Given the description of an element on the screen output the (x, y) to click on. 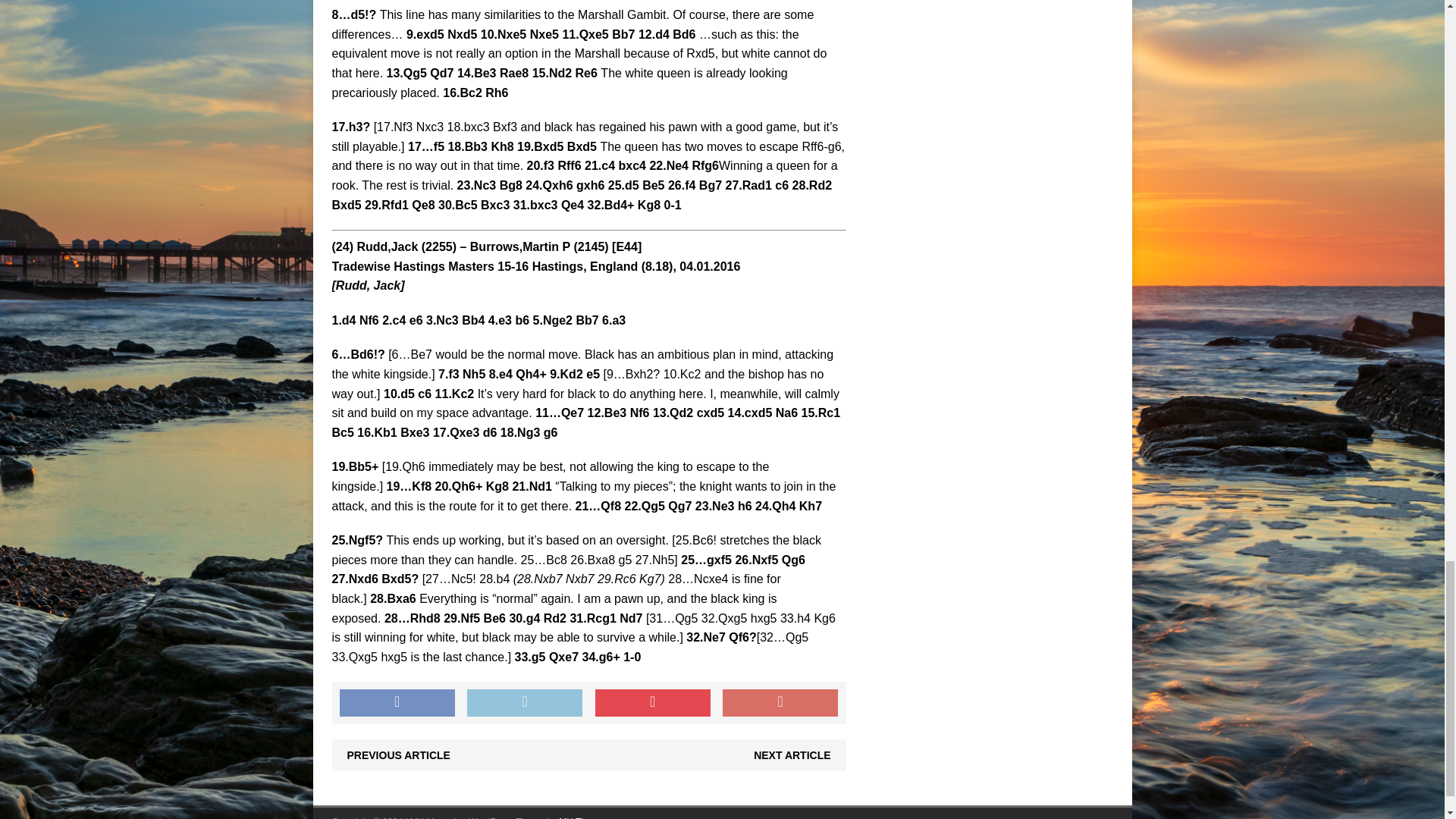
Tweet This Post (524, 702)
Pin This Post (652, 702)
Share on Facebook (396, 702)
NEXT ARTICLE (791, 755)
PREVIOUS ARTICLE (398, 755)
